Given the description of an element on the screen output the (x, y) to click on. 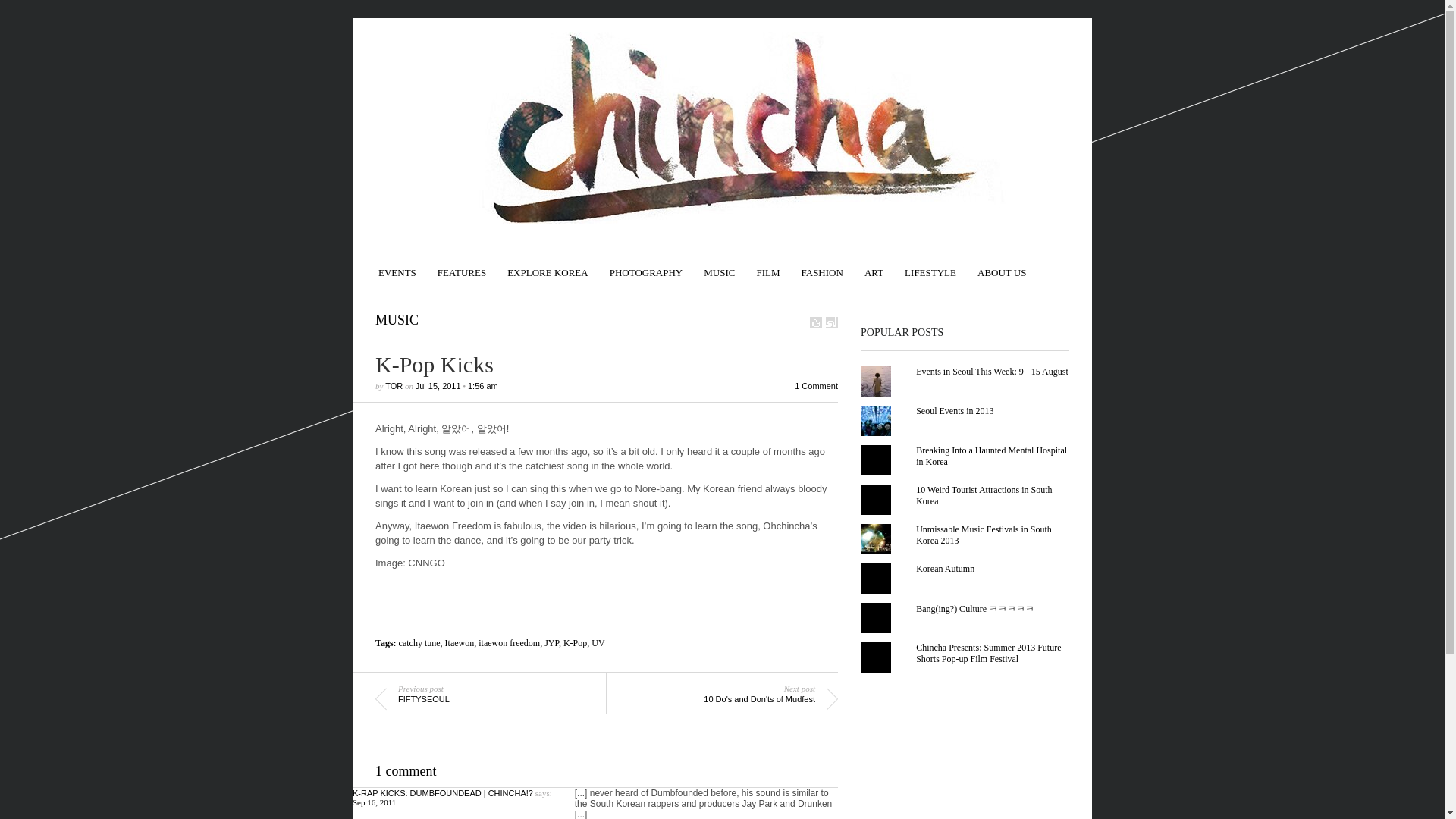
MUSIC (397, 319)
TOR (394, 385)
Our Photography (646, 266)
PHOTOGRAPHY (646, 266)
EXPLORE KOREA (547, 266)
Posts by Tor (394, 385)
Share on StumbleUpon (831, 322)
LIFESTYLE (930, 266)
Korean Music (718, 266)
EVENTS (397, 266)
Itaewon (459, 643)
Events This Week (397, 266)
catchy tune (419, 643)
View all posts in Music (397, 319)
1 Comment (816, 385)
